Given the description of an element on the screen output the (x, y) to click on. 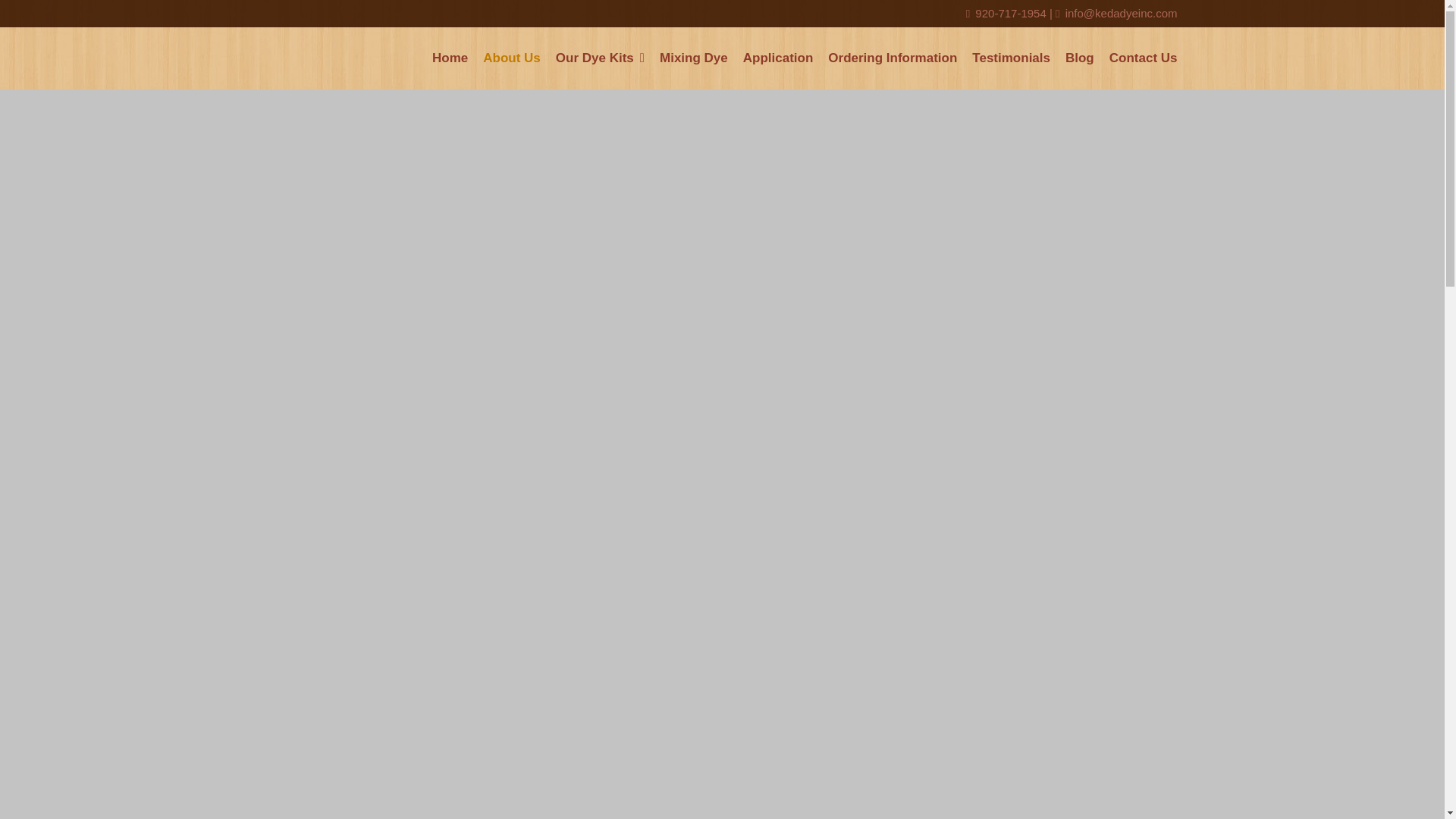
Testimonials (1010, 57)
Home (450, 57)
Contact Us (1139, 57)
Blog (1080, 57)
Mixing Dye (693, 57)
Ordering Information (892, 57)
About Us (512, 57)
Our Dye Kits (600, 57)
Furniture Stain (599, 86)
Application (778, 57)
